Given the description of an element on the screen output the (x, y) to click on. 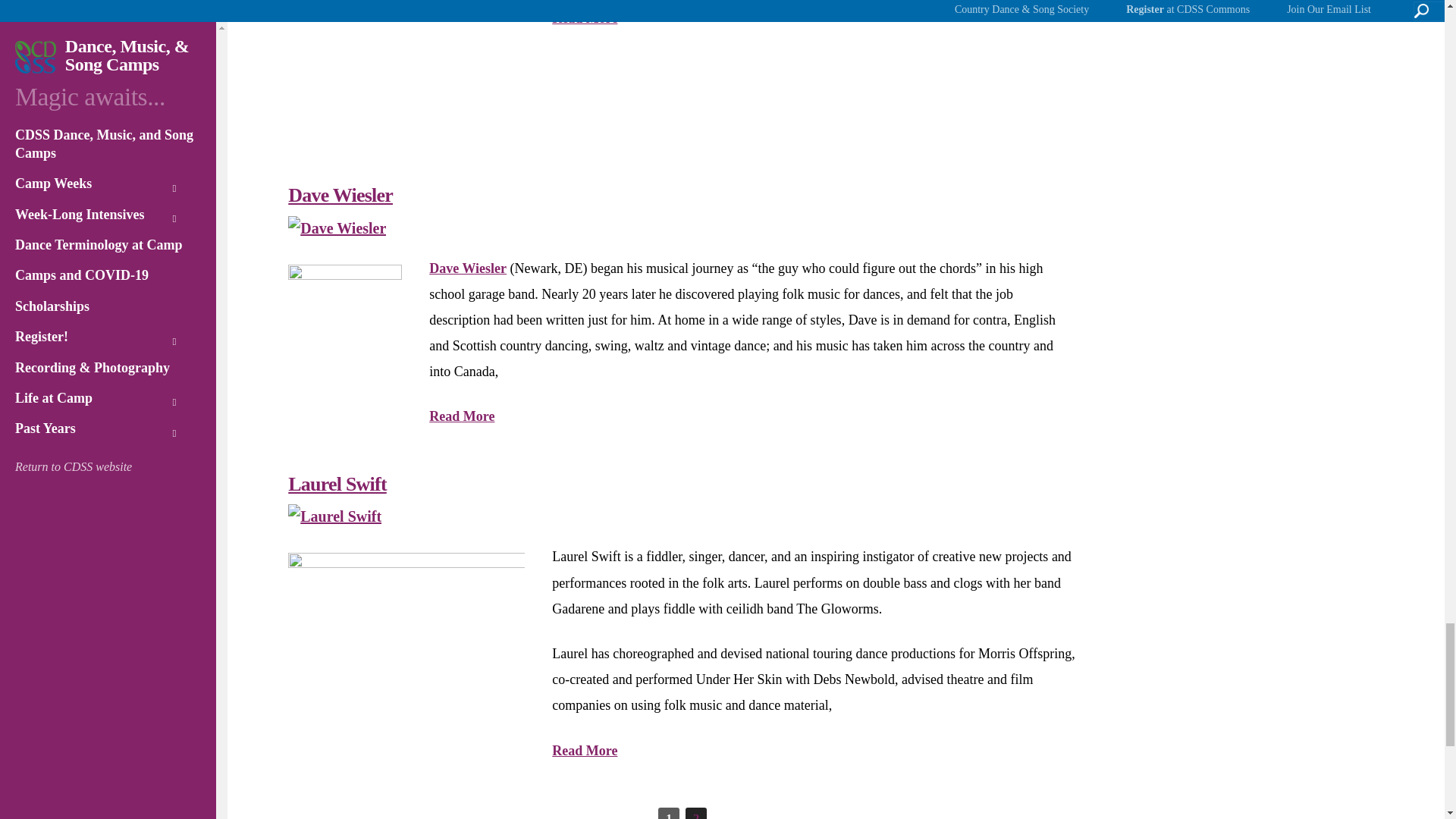
Laurel Swift (334, 516)
Dave Wiesler (336, 228)
